Given the description of an element on the screen output the (x, y) to click on. 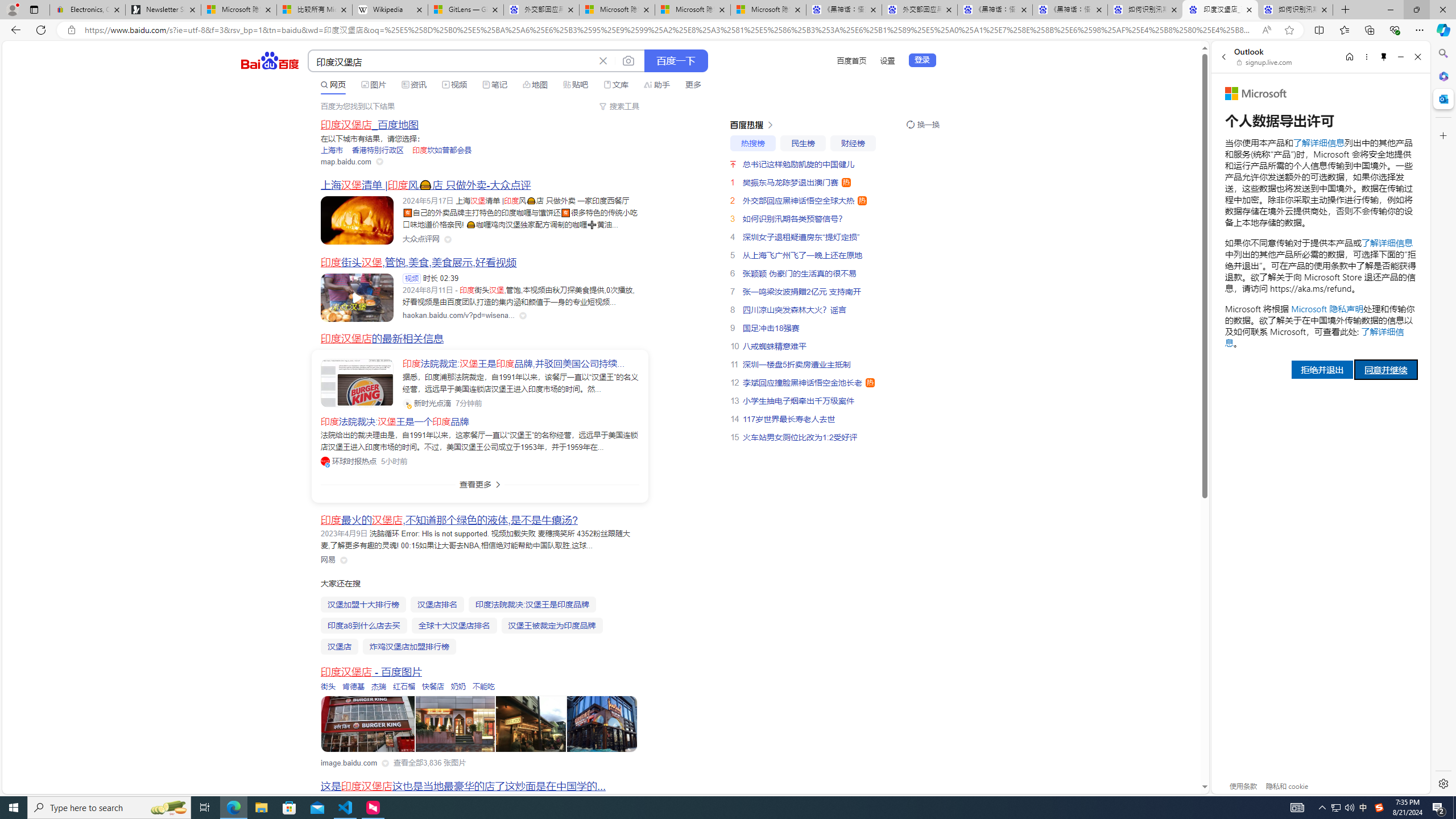
signup.live.com (1264, 61)
